Given the description of an element on the screen output the (x, y) to click on. 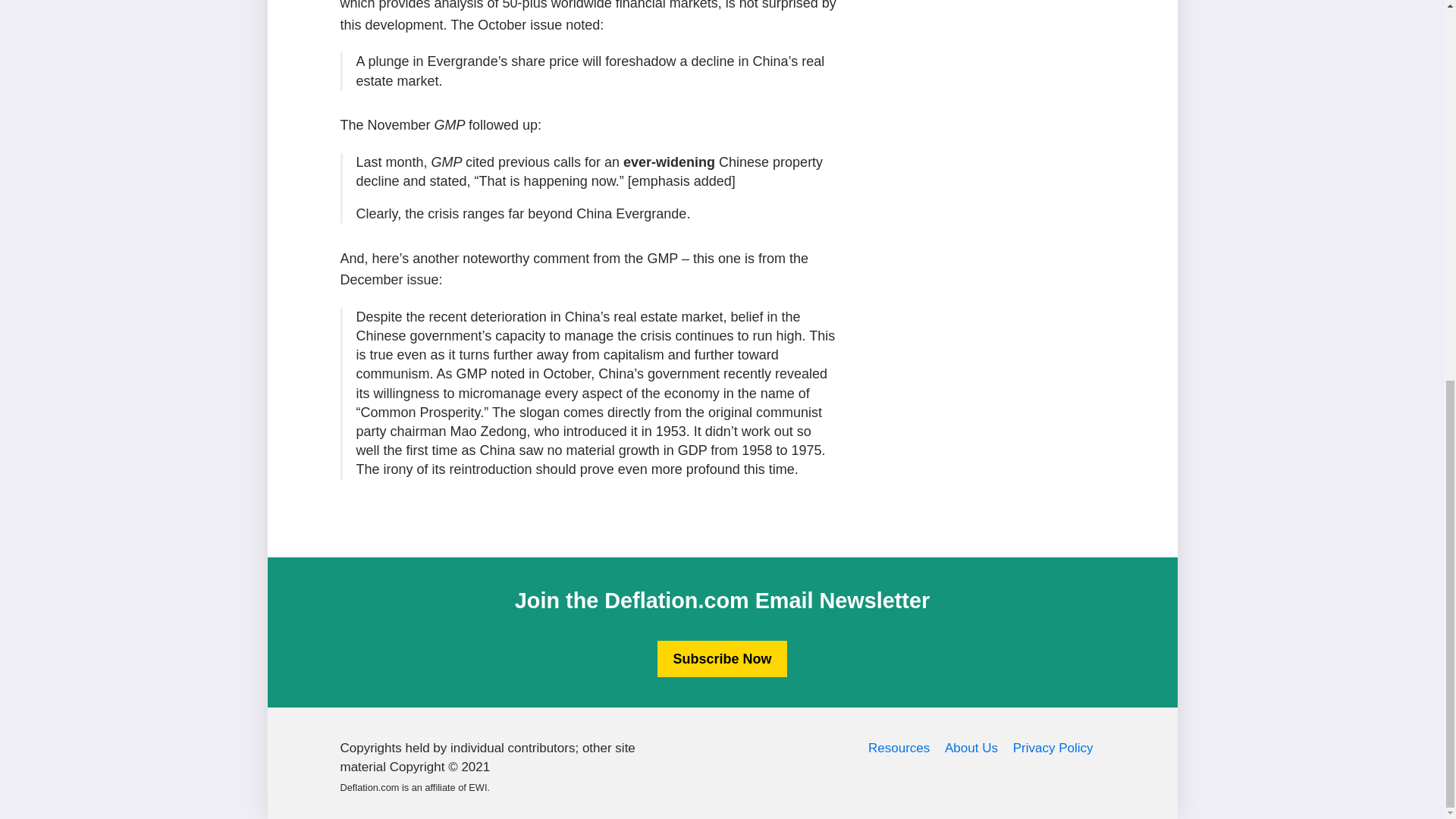
Subscribe Now (722, 659)
